Given the description of an element on the screen output the (x, y) to click on. 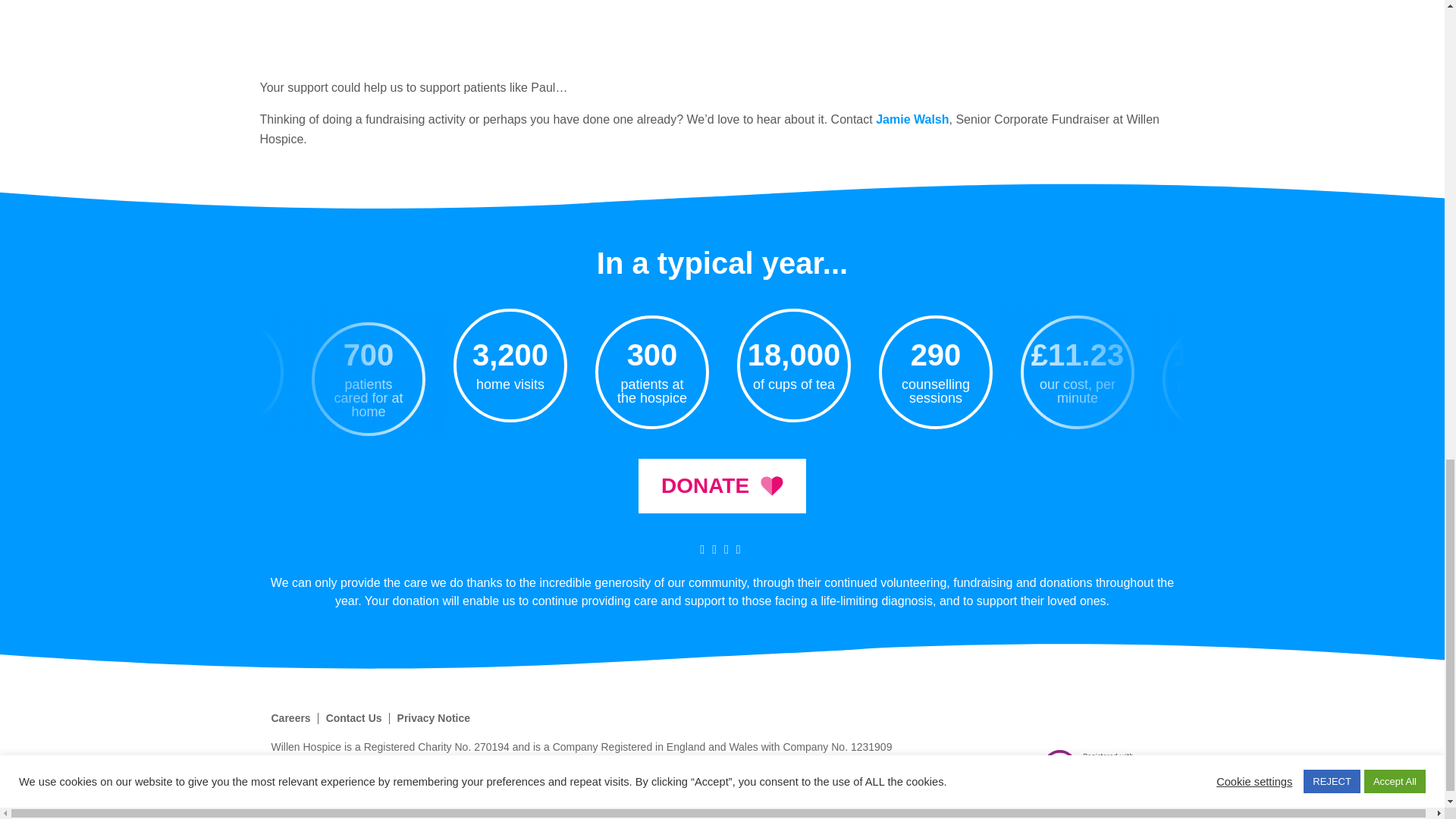
twitter (702, 549)
facebook (713, 549)
Donate (722, 485)
instagram (726, 549)
Fundraising Regulator (1099, 767)
linkedin (738, 549)
